Given the description of an element on the screen output the (x, y) to click on. 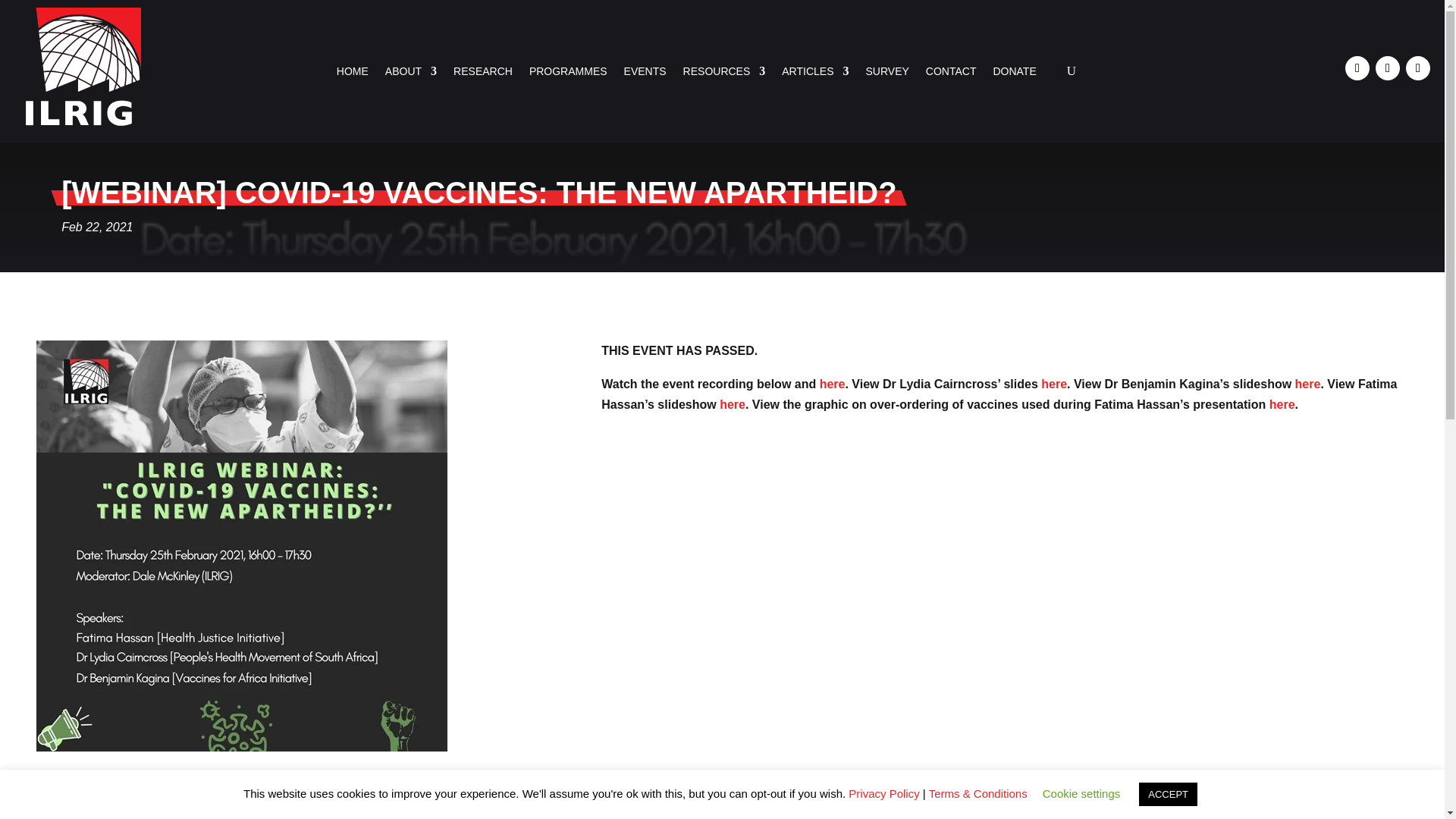
Follow on X (1387, 68)
Follow on Instagram (1417, 68)
Follow on Facebook (1357, 68)
